Given the description of an element on the screen output the (x, y) to click on. 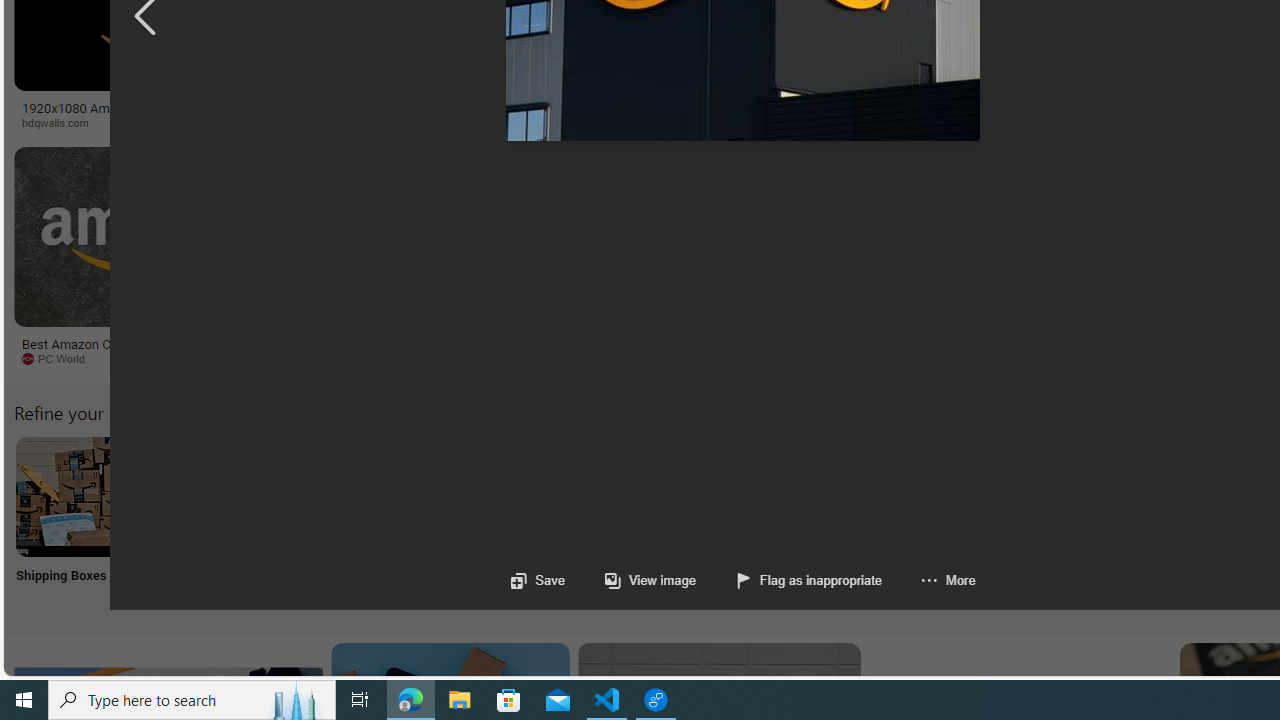
Amazon Log into My Account Log into My Account (472, 521)
Amazon Jobs Near Me (604, 496)
Wish List (999, 521)
Amazon Clip Art (339, 496)
Amazon Clip Art Clip Art (339, 521)
Amazon Log into My Account (472, 496)
Online Shopping Search (207, 521)
Amazon Package Delivery Package Delivery (735, 521)
Marketplace (807, 123)
Amazon Shipping Boxes (75, 496)
Flag as inappropriate (789, 580)
